Given the description of an element on the screen output the (x, y) to click on. 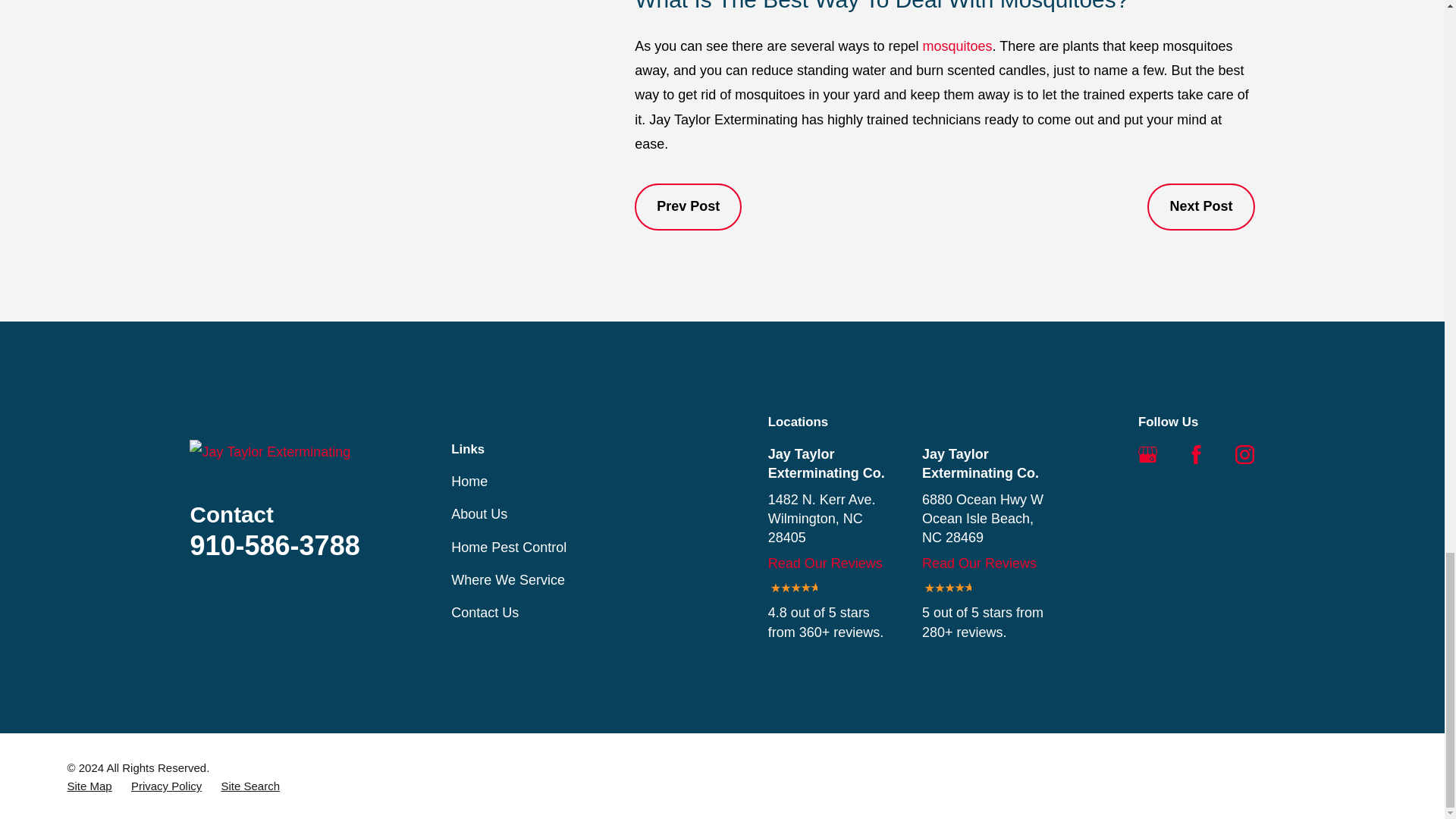
Home (274, 451)
Instagram (1243, 454)
Facebook (1195, 454)
Google Business Profile (1147, 454)
